Given the description of an element on the screen output the (x, y) to click on. 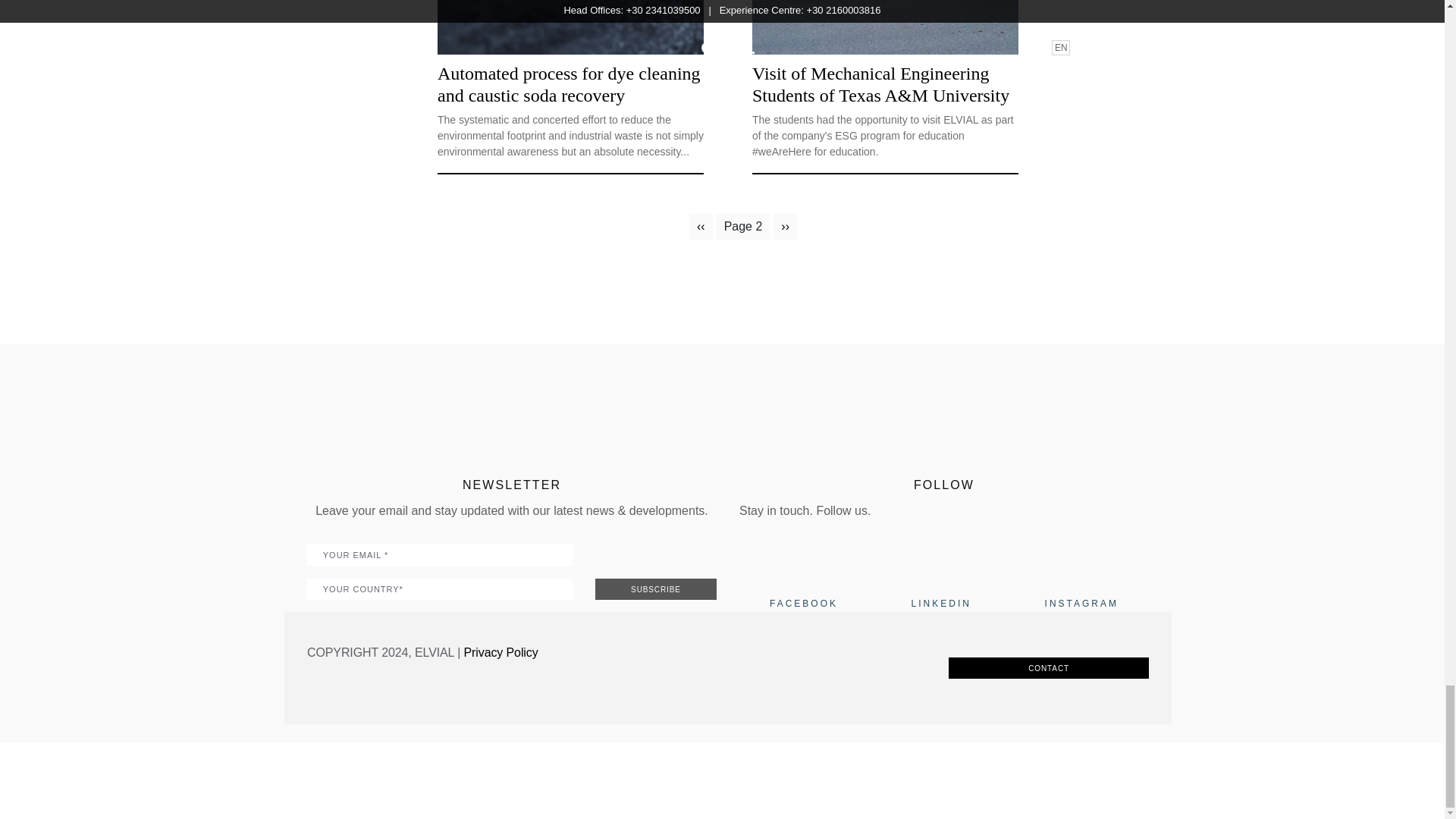
Privacy Policy (501, 652)
LINKEDIN (940, 603)
FACEBOOK (803, 603)
SUBSCRIBE (655, 588)
INSTAGRAM (1081, 603)
